Given the description of an element on the screen output the (x, y) to click on. 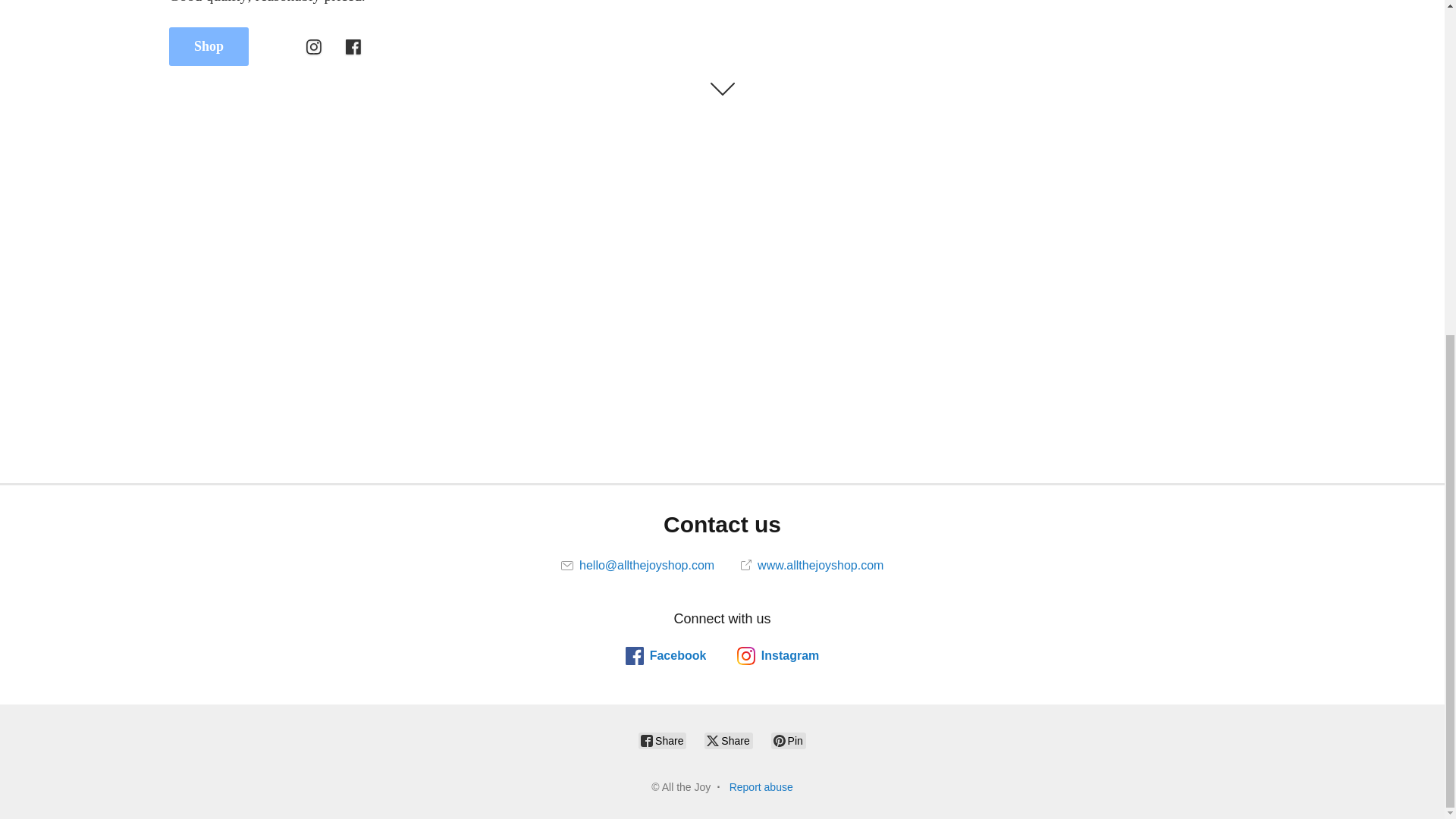
Share (662, 740)
Report abuse (761, 787)
Pin (788, 740)
Shop (208, 46)
Facebook (666, 656)
www.allthejoyshop.com (812, 564)
Instagram (777, 656)
Share (728, 740)
